Given the description of an element on the screen output the (x, y) to click on. 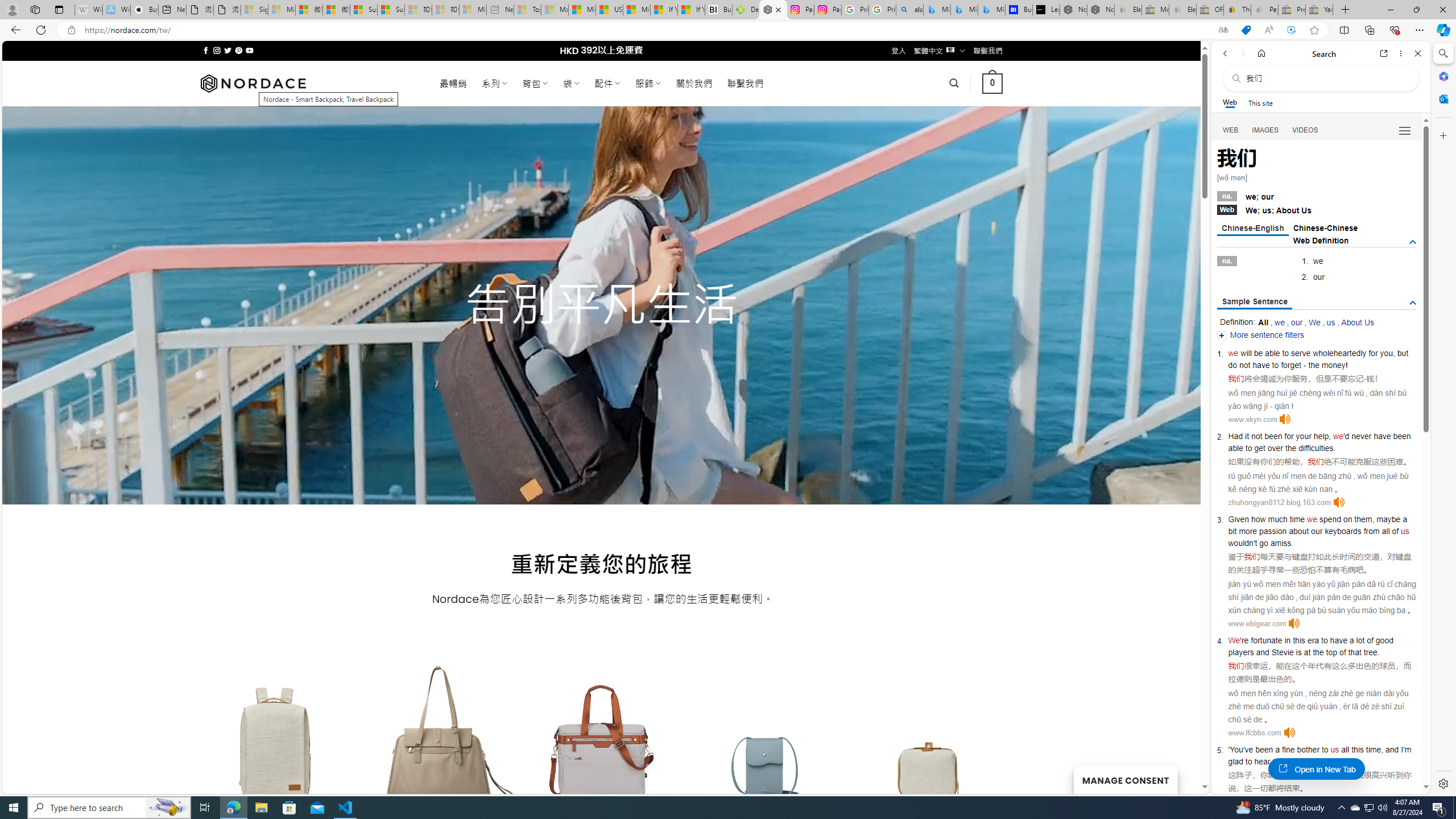
lot (1360, 640)
serve (1300, 352)
AutomationID: tgdef_sen (1412, 302)
good (1384, 640)
and (1262, 651)
, (1381, 749)
Chinese-English (1252, 228)
